Given the description of an element on the screen output the (x, y) to click on. 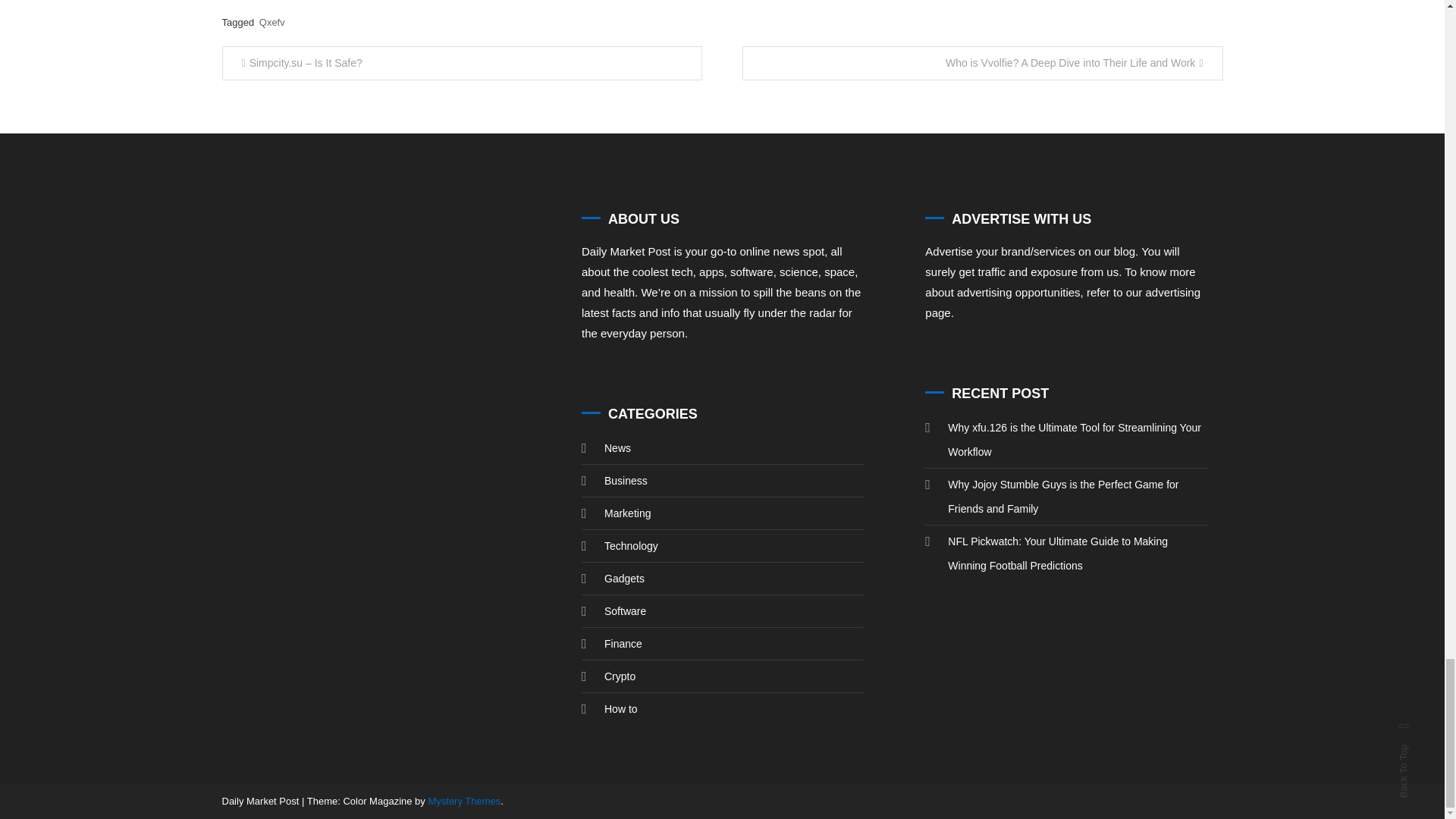
Qxefv (272, 21)
